Given the description of an element on the screen output the (x, y) to click on. 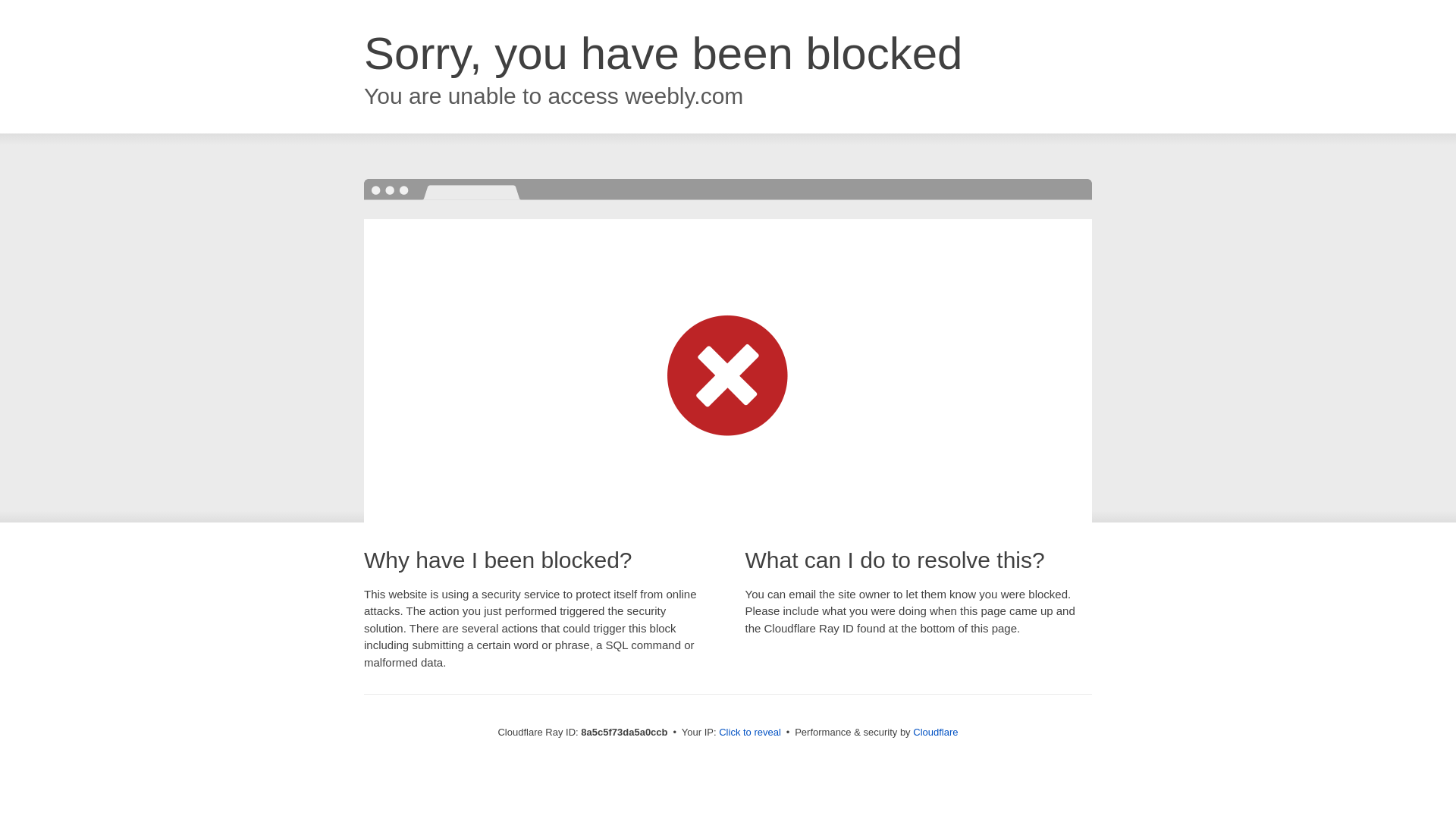
Click to reveal (749, 732)
Cloudflare (935, 731)
